Given the description of an element on the screen output the (x, y) to click on. 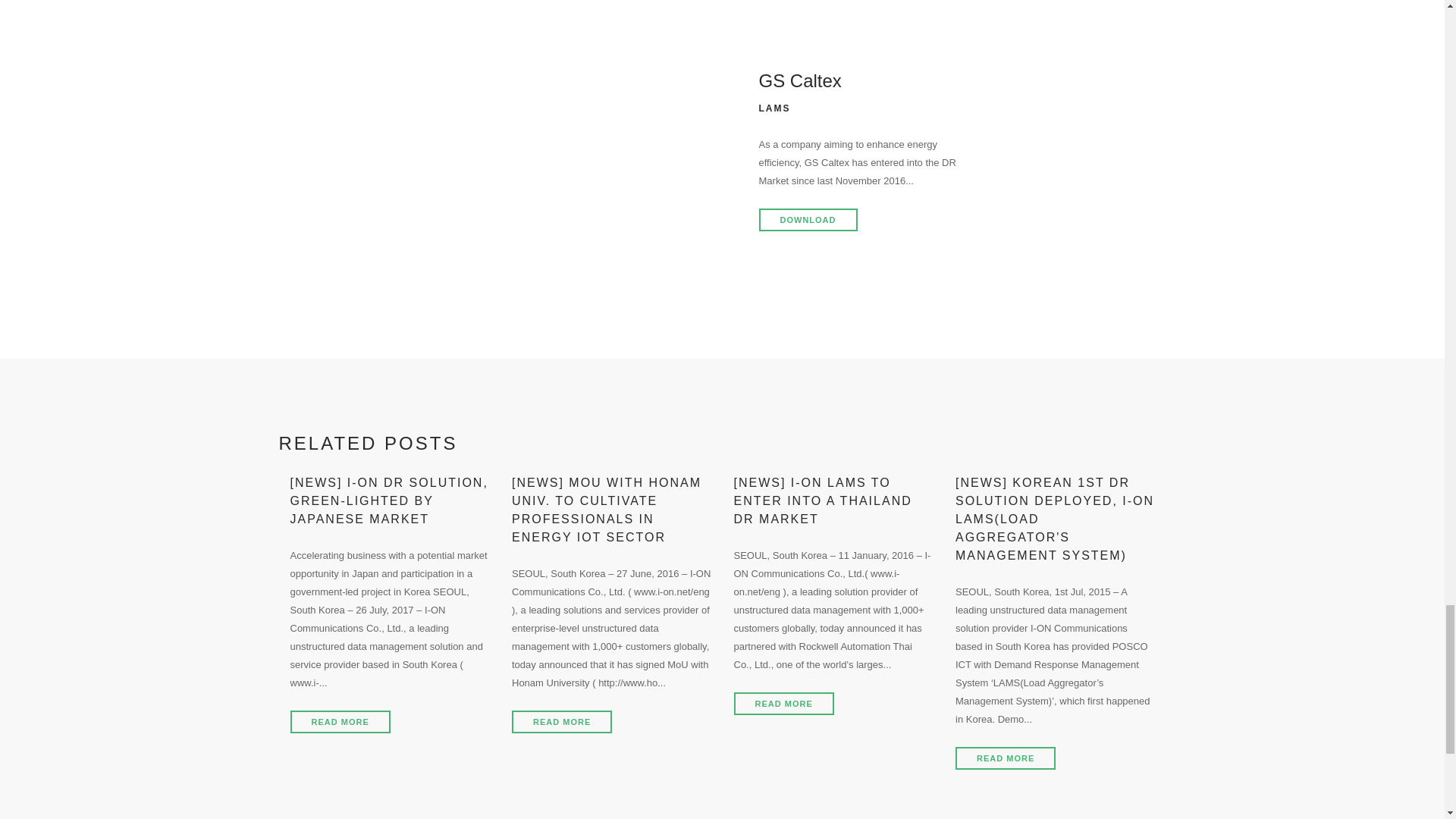
DOWNLOAD (807, 219)
READ MORE (1005, 757)
READ MORE (561, 721)
READ MORE (339, 721)
READ MORE (783, 703)
